Given the description of an element on the screen output the (x, y) to click on. 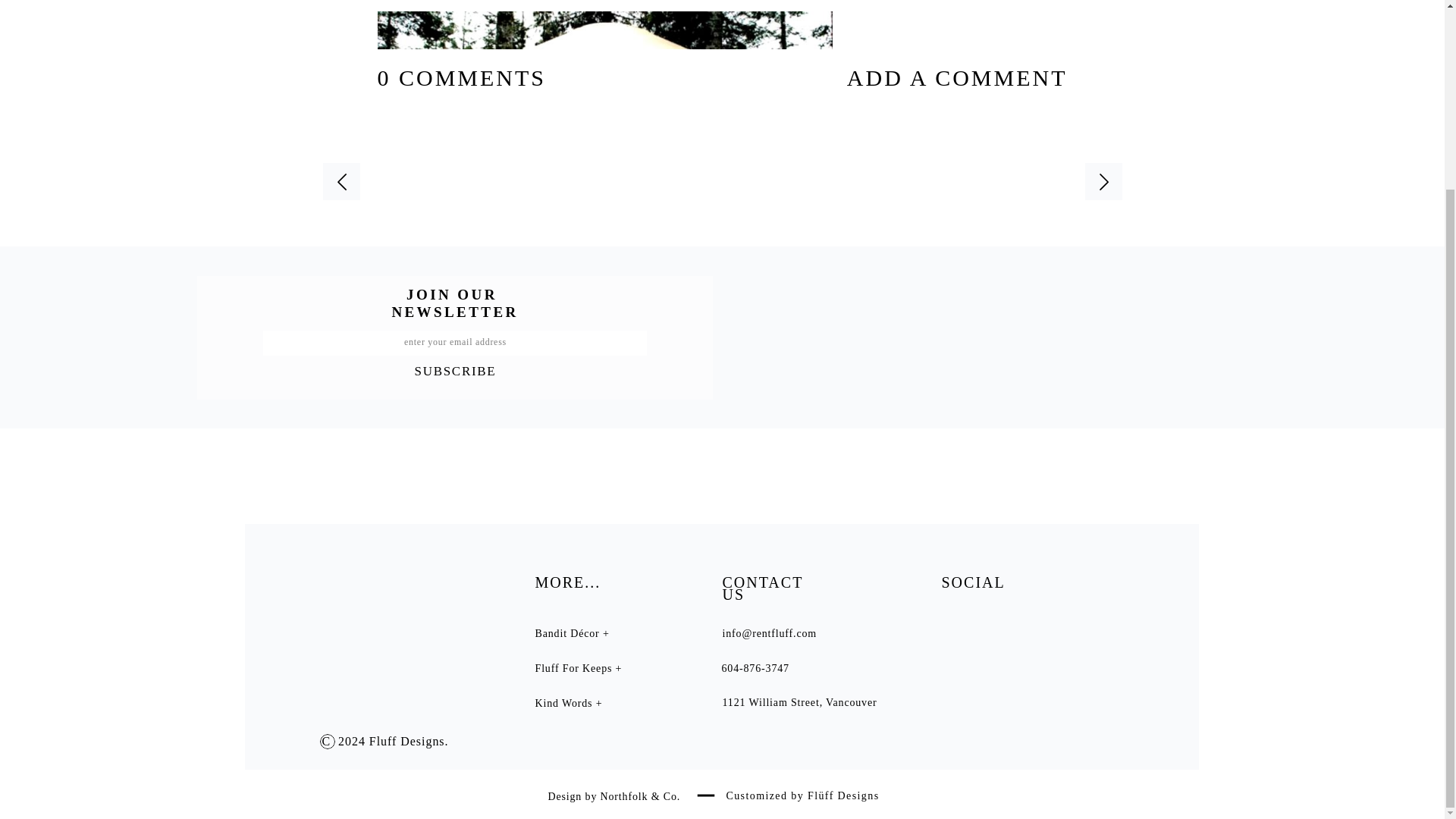
Glamping Hub (644, 337)
0 COMMENTS (462, 77)
SUBSCRIBE (454, 369)
ADD A COMMENT (920, 77)
This (916, 337)
epic treehouse (604, 726)
